Given the description of an element on the screen output the (x, y) to click on. 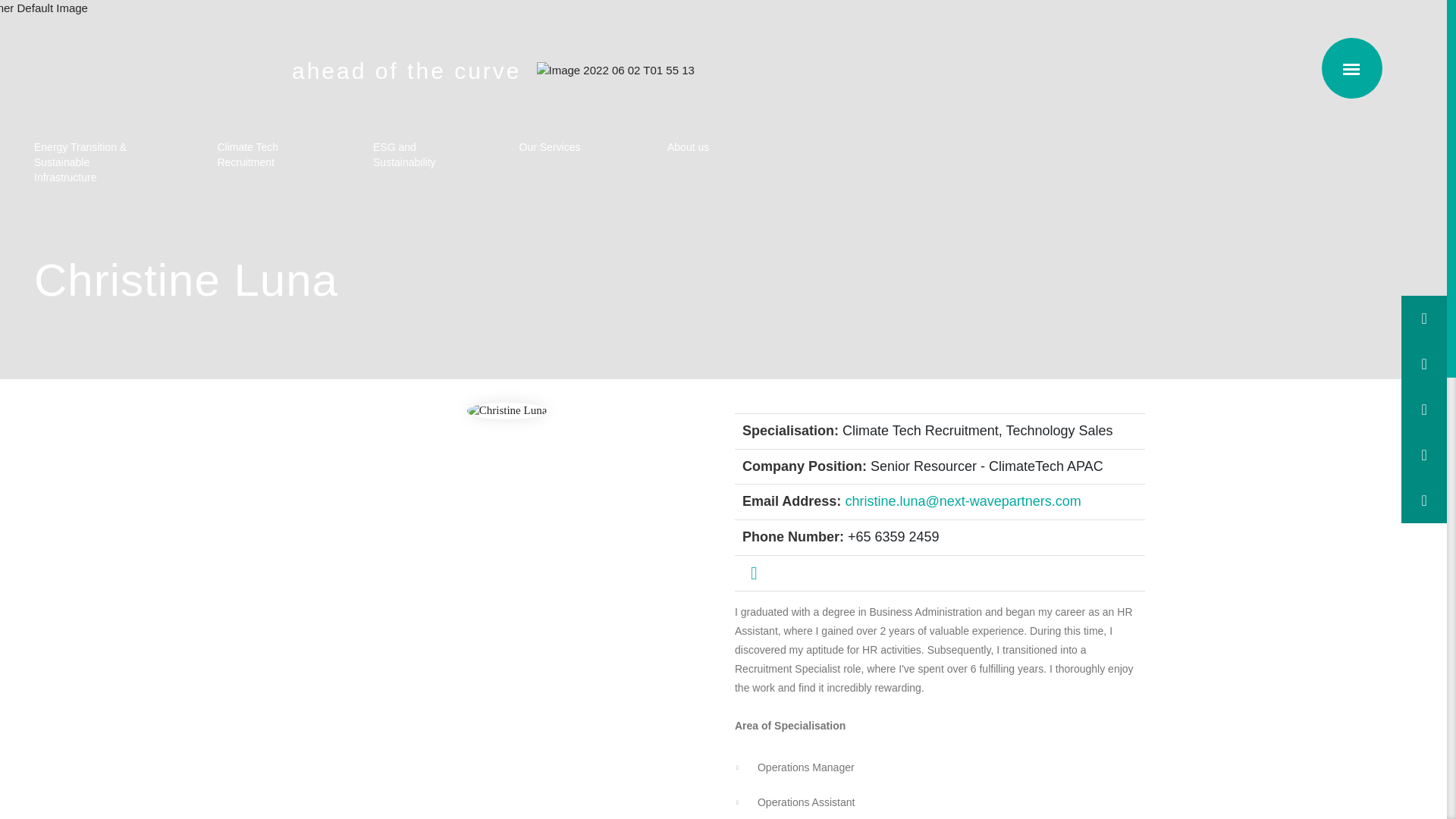
About us (693, 147)
Climate Tech Recruitment (253, 155)
ESG and Sustainability (404, 155)
Go to the Homepage (147, 69)
Our Services (550, 147)
NextWave Partners (147, 69)
